Given the description of an element on the screen output the (x, y) to click on. 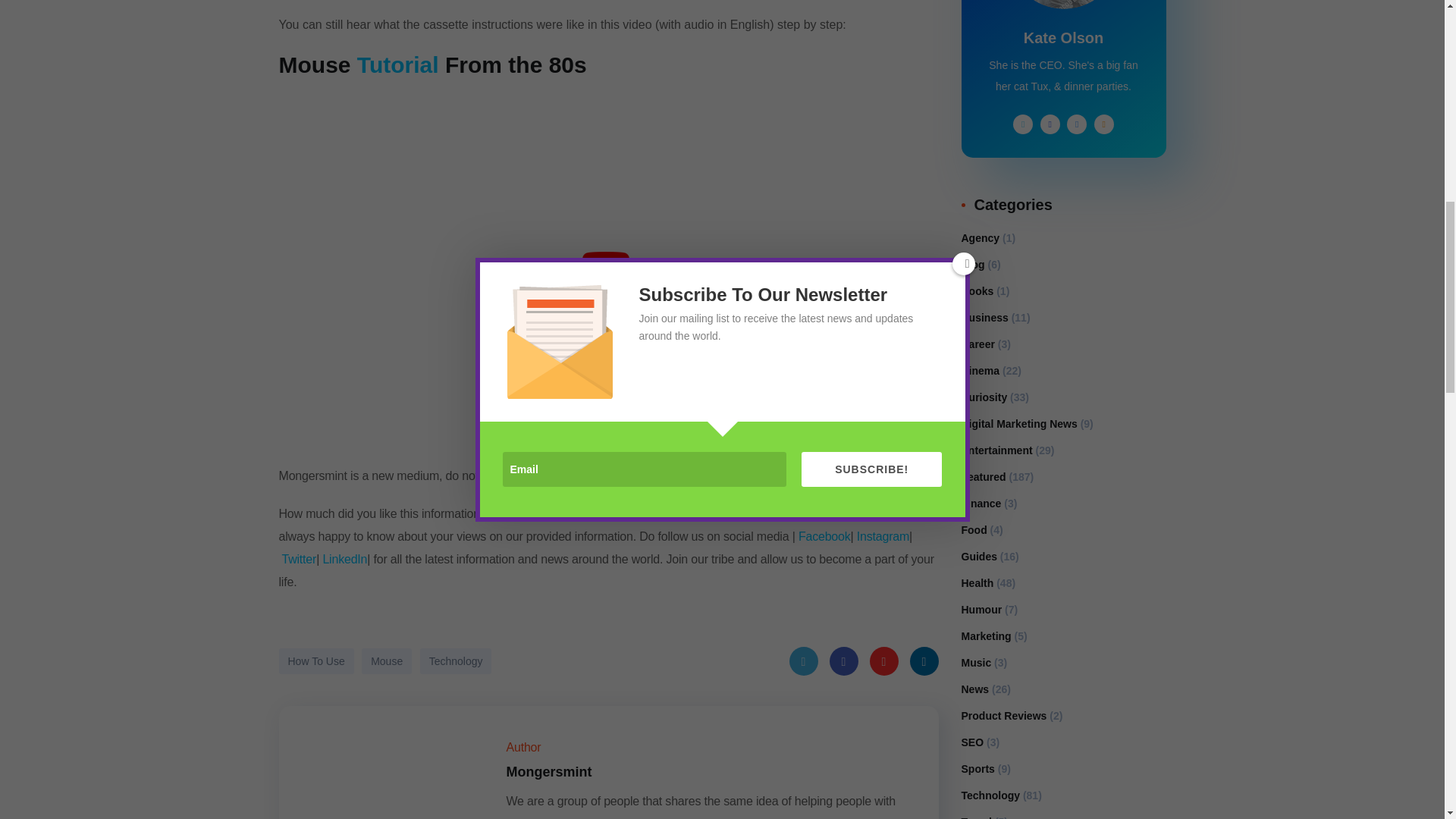
Twitter (802, 661)
LinkedIn (924, 661)
Pinterest (883, 661)
Facebook (844, 661)
